Given the description of an element on the screen output the (x, y) to click on. 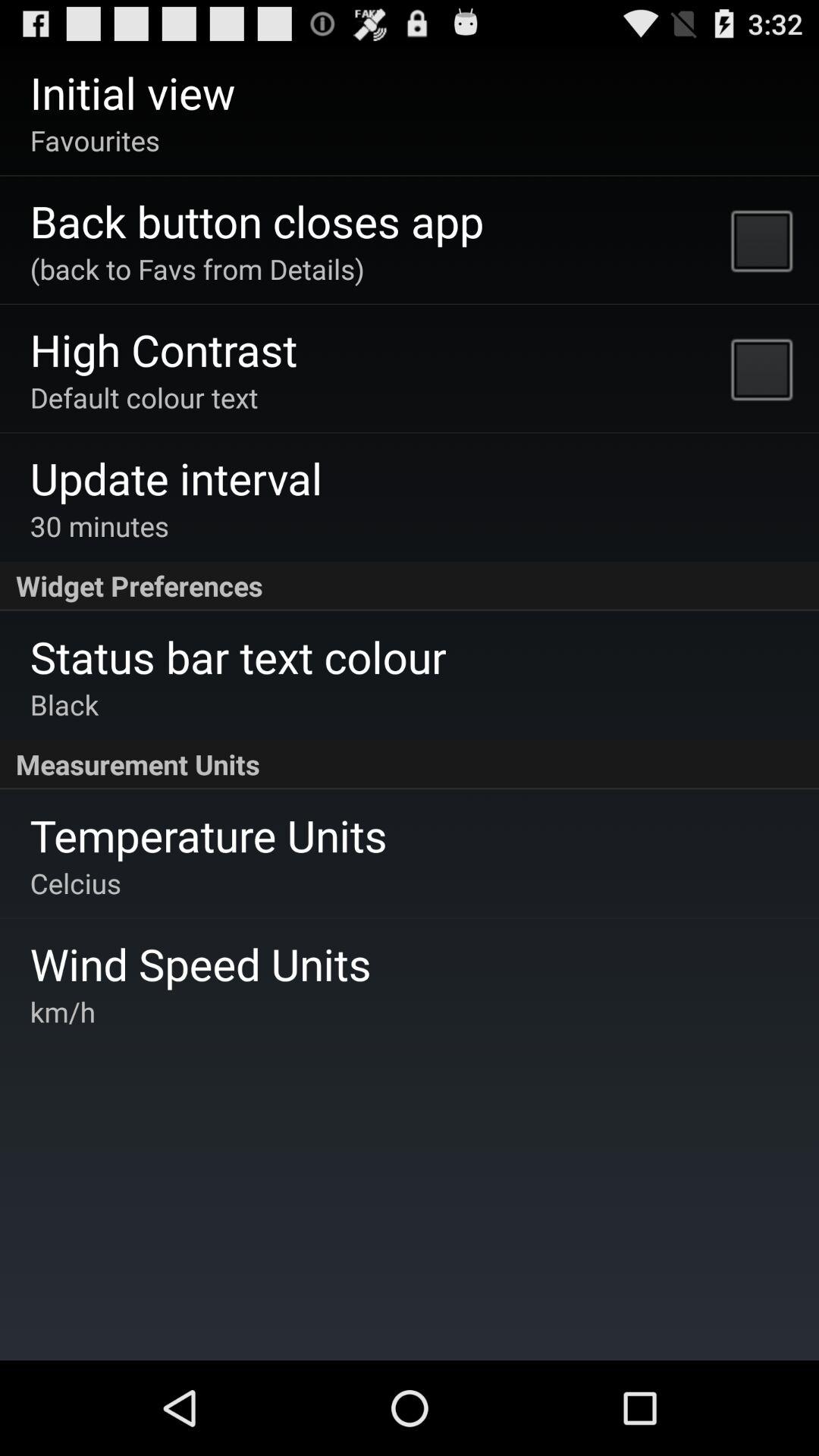
press the icon above status bar text app (409, 585)
